Given the description of an element on the screen output the (x, y) to click on. 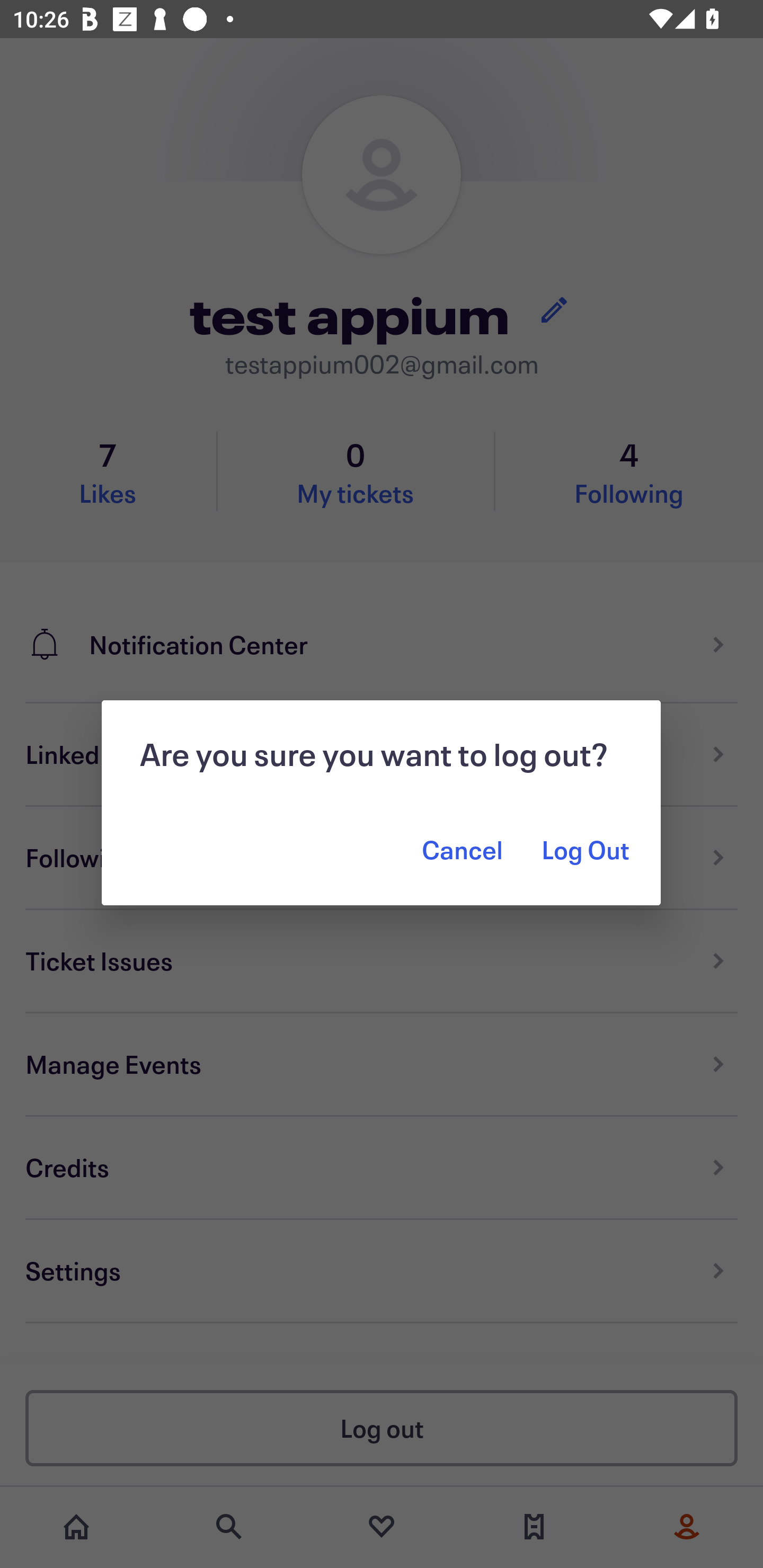
Cancel (461, 849)
Log Out (584, 849)
